Given the description of an element on the screen output the (x, y) to click on. 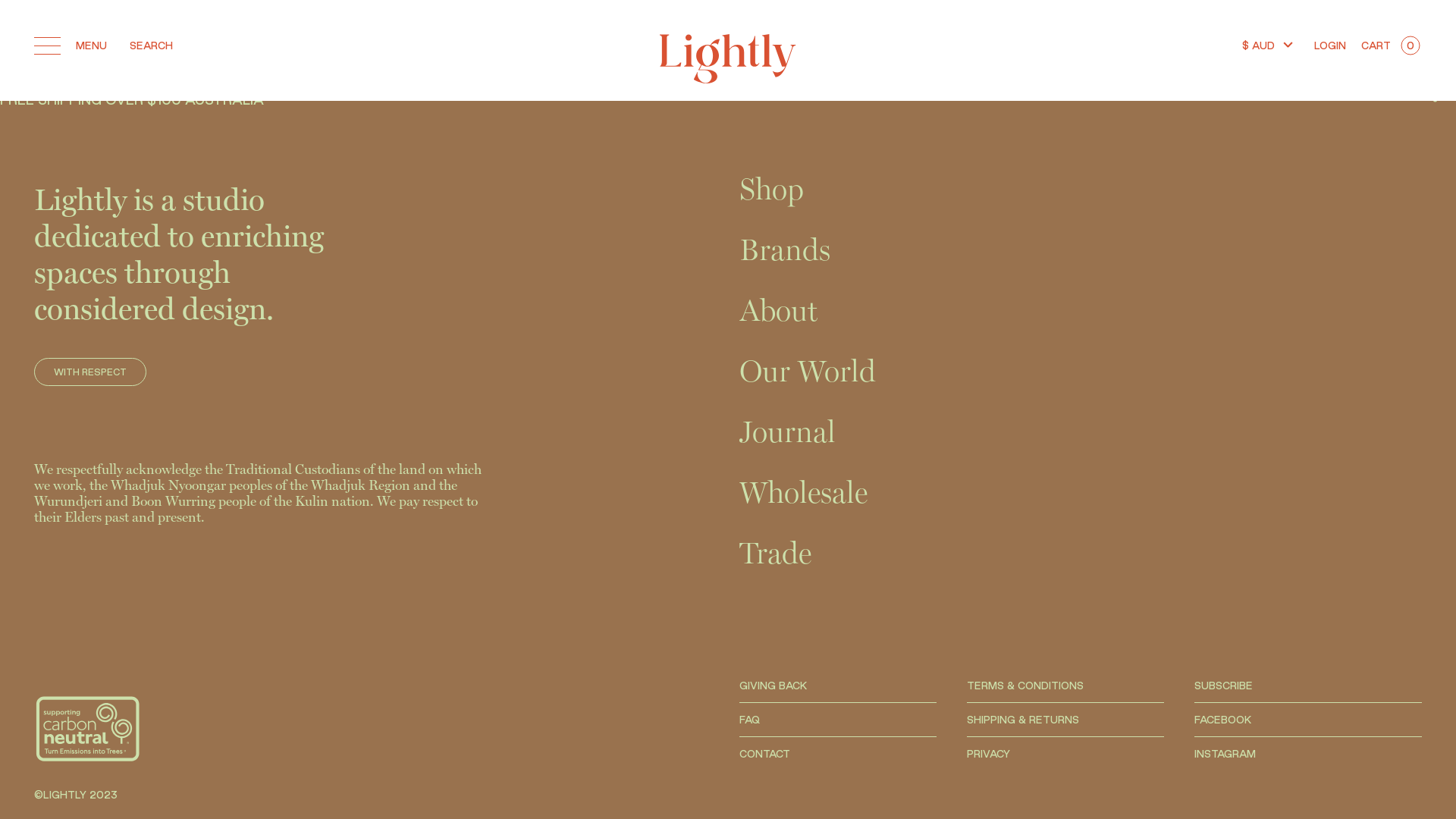
About Element type: text (778, 310)
Wholesale Element type: text (1080, 492)
TERMS & CONDITIONS Element type: text (1024, 685)
GIVING BACK Element type: text (772, 685)
SUBSCRIBE Element type: text (1223, 685)
Our World Element type: text (807, 371)
SHIPPING & RETURNS Element type: text (1022, 719)
LOGIN Element type: text (1330, 45)
Brands Element type: text (1080, 249)
Shop Element type: text (1080, 189)
WITH RESPECT Element type: text (90, 371)
Subscribe Element type: text (927, 501)
CART 0 Element type: text (1391, 45)
PRIVACY Element type: text (988, 753)
CONTACT Element type: text (764, 753)
Journal Element type: text (1080, 431)
FACEBOOK Element type: text (1222, 719)
MENU Element type: text (70, 44)
Return Home Element type: text (35, 64)
INSTAGRAM Element type: text (1224, 753)
Trade Element type: text (775, 553)
FAQ Element type: text (749, 719)
